Given the description of an element on the screen output the (x, y) to click on. 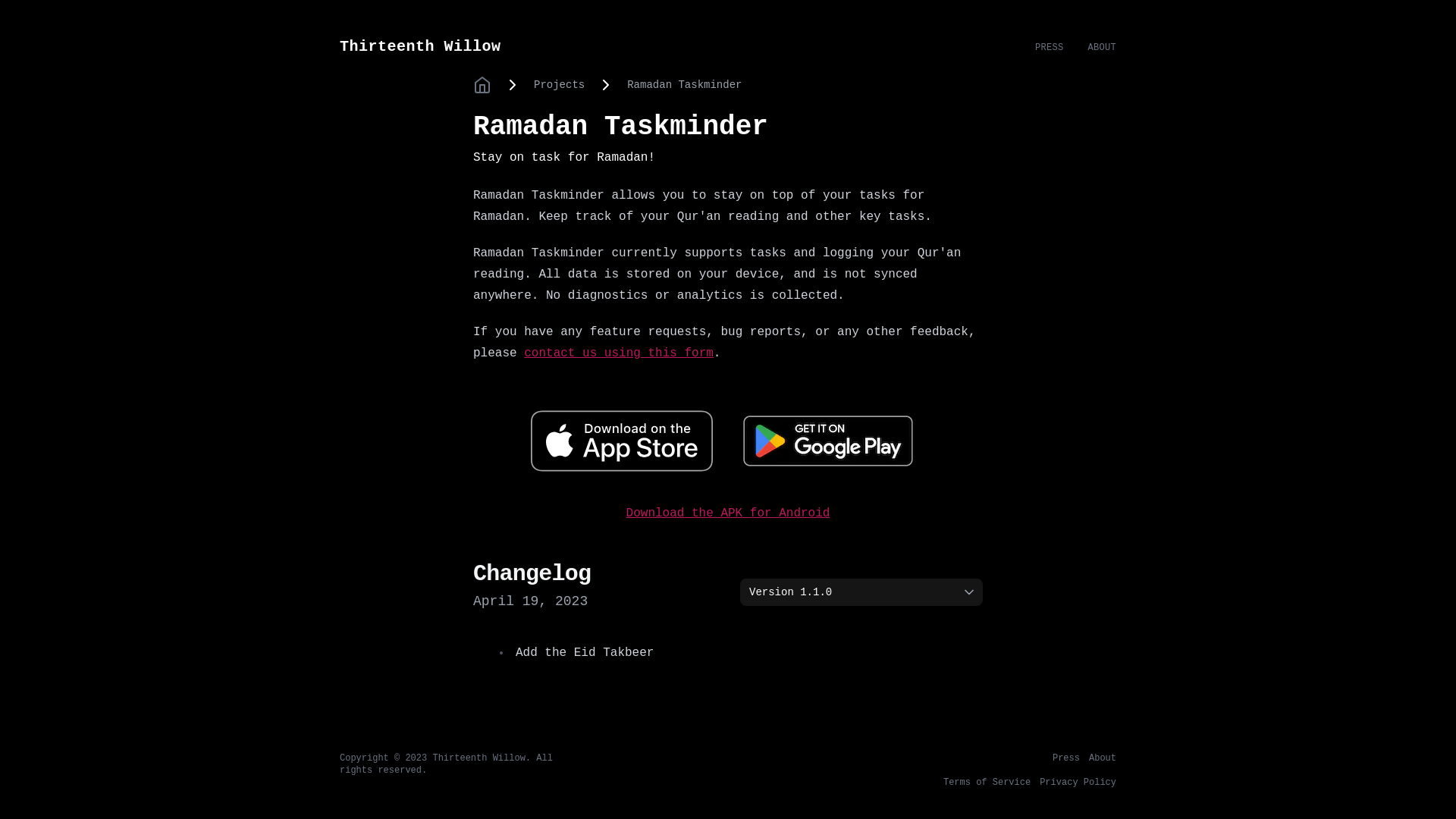
PRESS Element type: text (1049, 47)
ABOUT Element type: text (1101, 47)
Version 1.1.0 Element type: text (861, 591)
Thirteenth Willow Element type: text (687, 46)
Terms of Service Element type: text (986, 782)
Download the APK for Android Element type: text (728, 513)
Press Element type: text (1065, 758)
Home Element type: text (482, 84)
About Element type: text (1102, 758)
Privacy Policy Element type: text (1077, 782)
contact us using this form Element type: text (618, 353)
